Given the description of an element on the screen output the (x, y) to click on. 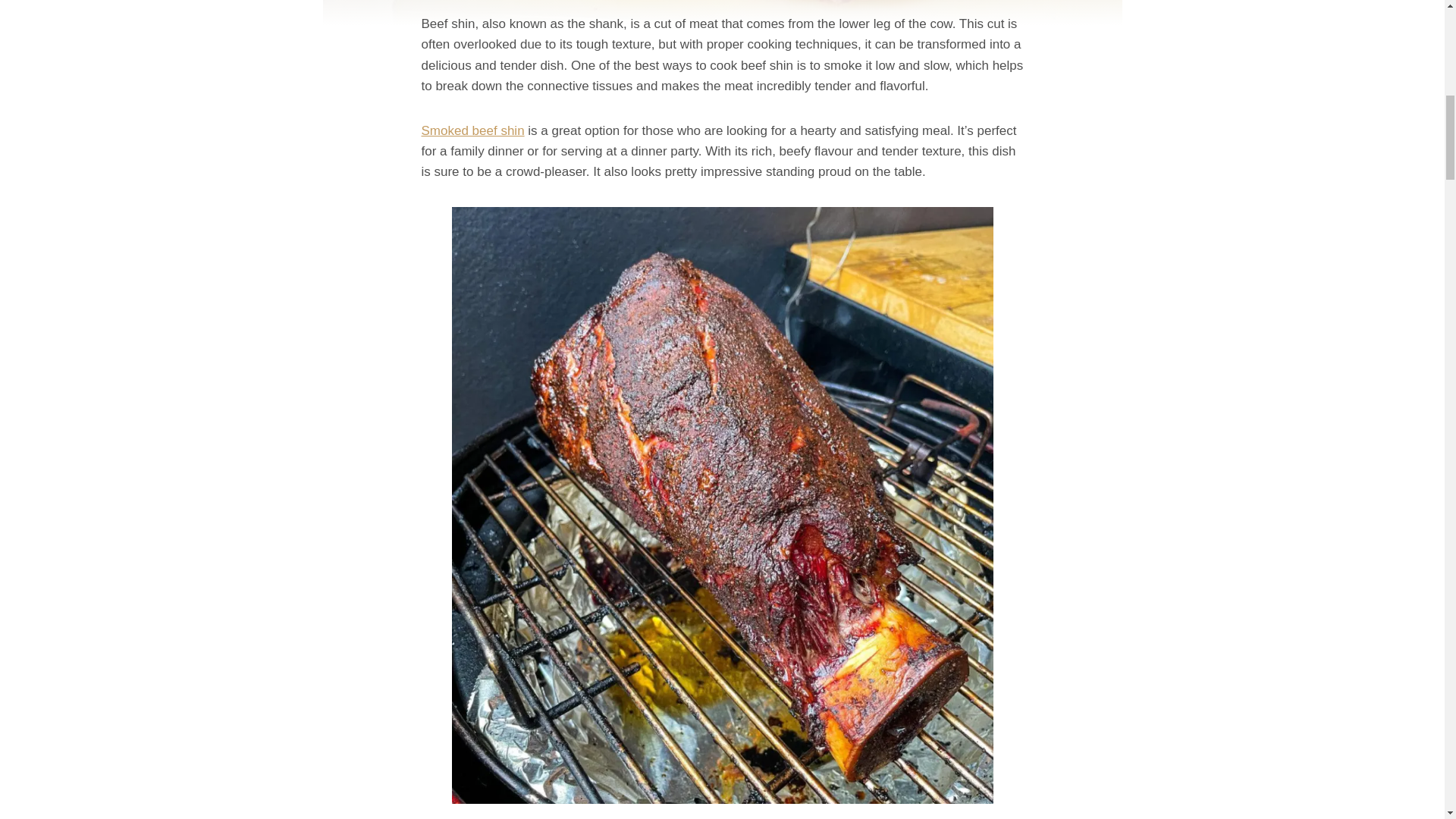
Smoked beef shin (473, 130)
